Given the description of an element on the screen output the (x, y) to click on. 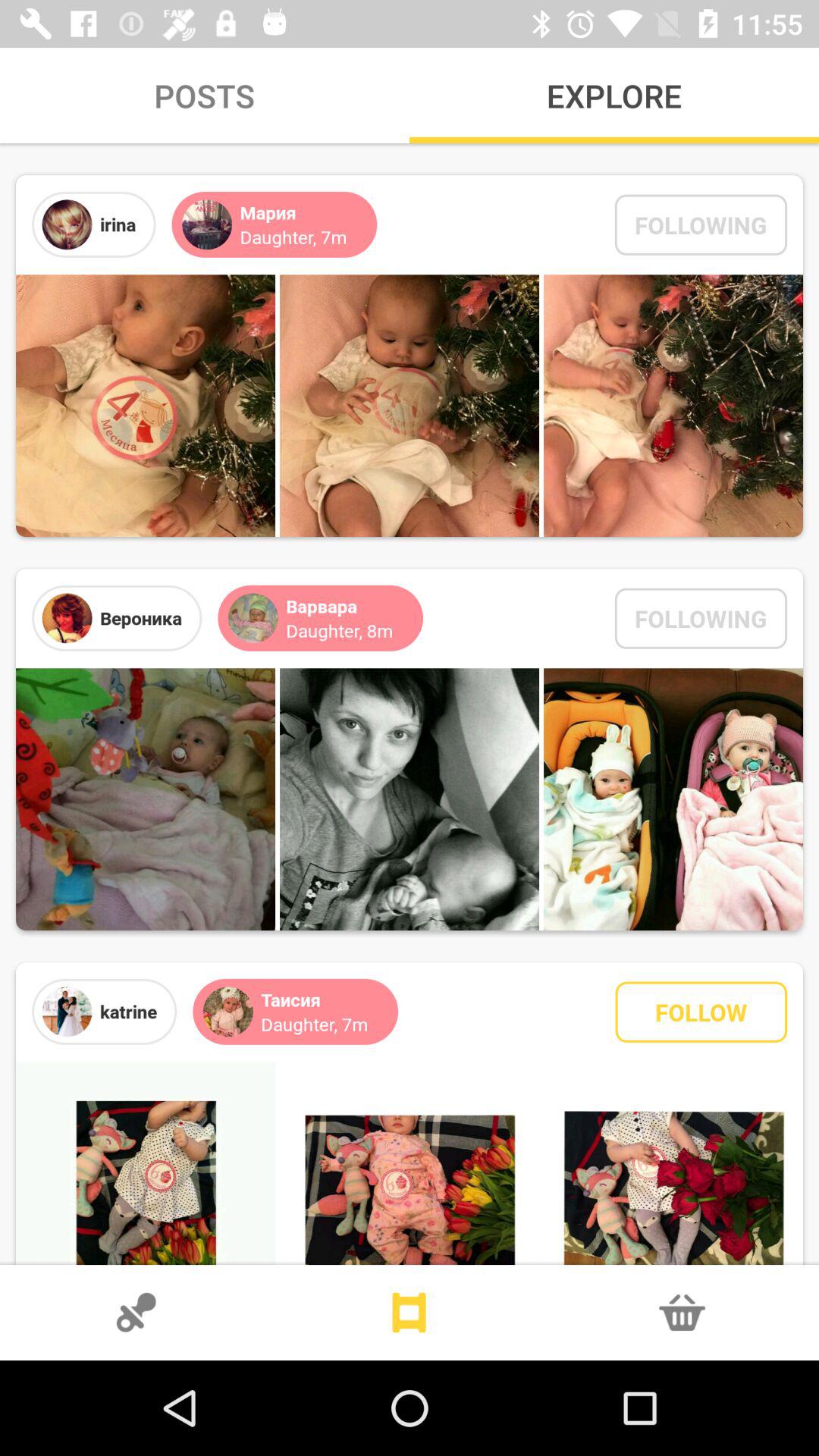
because back devicer (409, 1312)
